Given the description of an element on the screen output the (x, y) to click on. 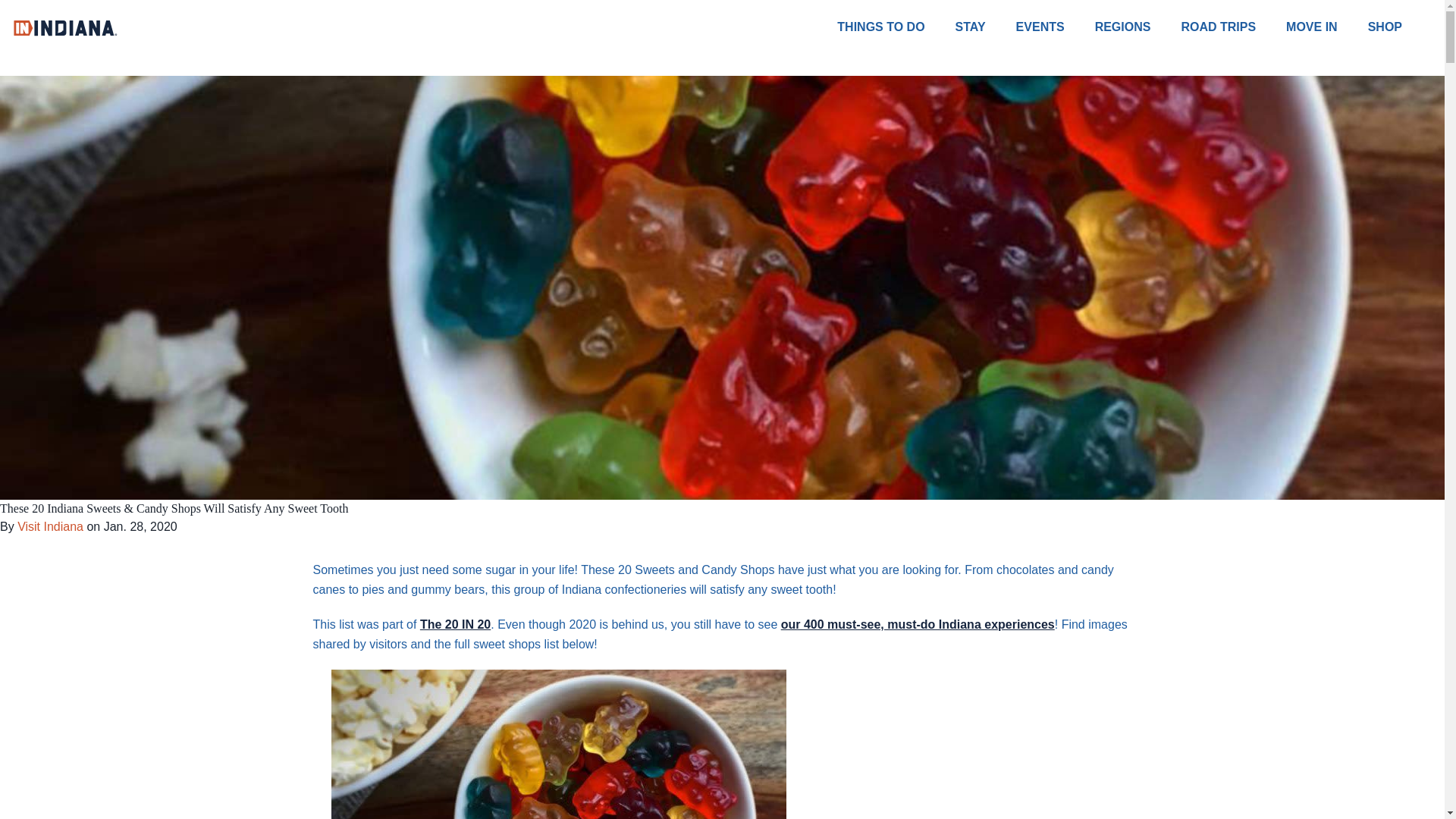
MOVE IN (1326, 27)
REGIONS (1137, 27)
STAY (985, 27)
EVENTS (1055, 27)
ROAD TRIPS (1232, 27)
THINGS TO DO (896, 27)
SHOP (1400, 27)
